Given the description of an element on the screen output the (x, y) to click on. 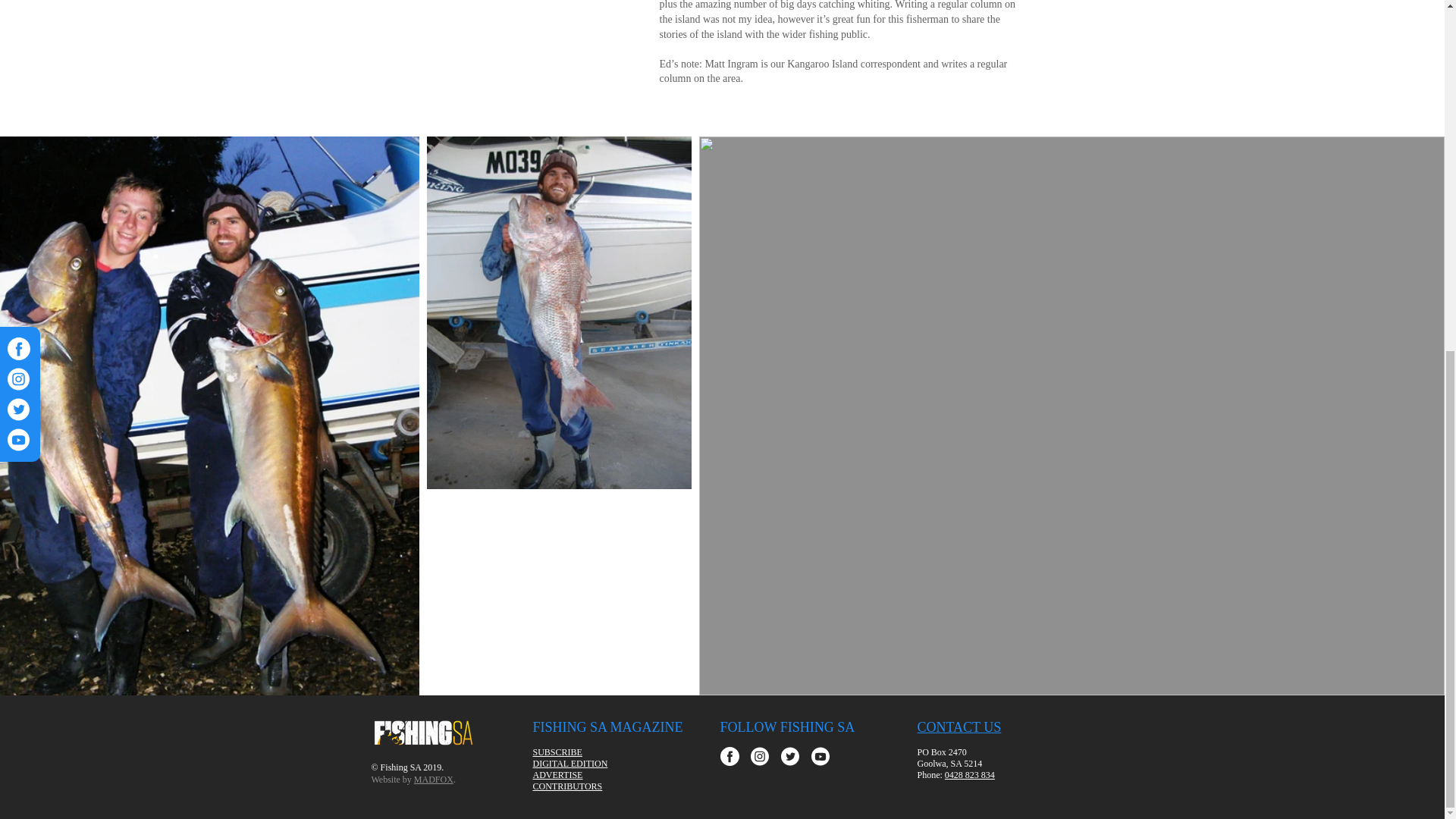
ADVERTISE (557, 774)
CONTRIBUTORS (567, 786)
SUBSCRIBE (556, 751)
CONTACT US (959, 726)
DIGITAL EDITION (569, 763)
MADFOX (432, 778)
0428 823 834 (969, 774)
